Given the description of an element on the screen output the (x, y) to click on. 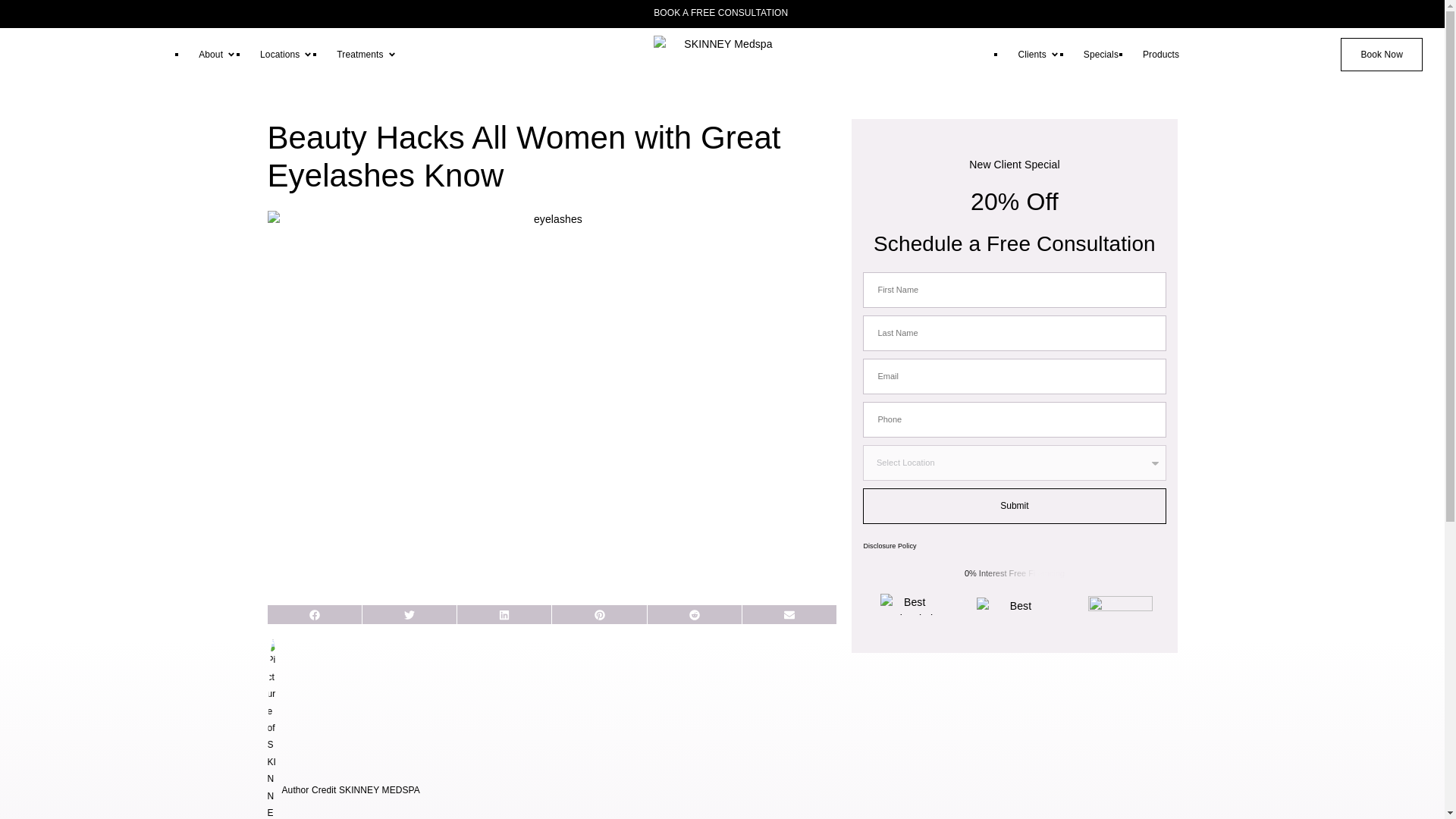
BOOK A FREE CONSULTATION  (722, 12)
